Given the description of an element on the screen output the (x, y) to click on. 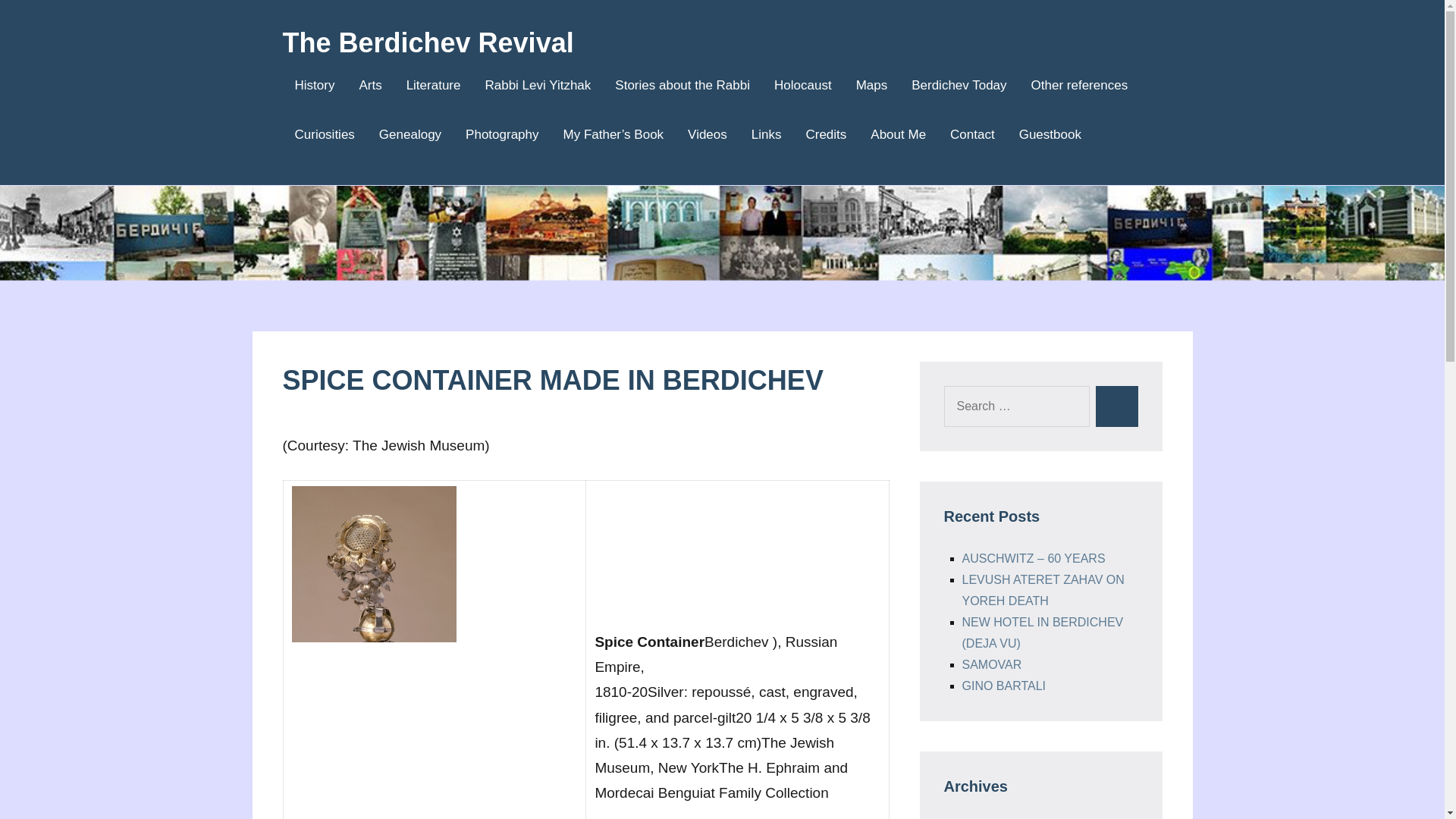
Contact (972, 135)
Photography (501, 135)
Curiosities (320, 423)
LEVUSH ATERET ZAHAV ON YOREH DEATH (1042, 590)
Holocaust (802, 86)
Credits (825, 135)
Guestbook (1050, 135)
Other references (1079, 86)
Videos (706, 135)
